Given the description of an element on the screen output the (x, y) to click on. 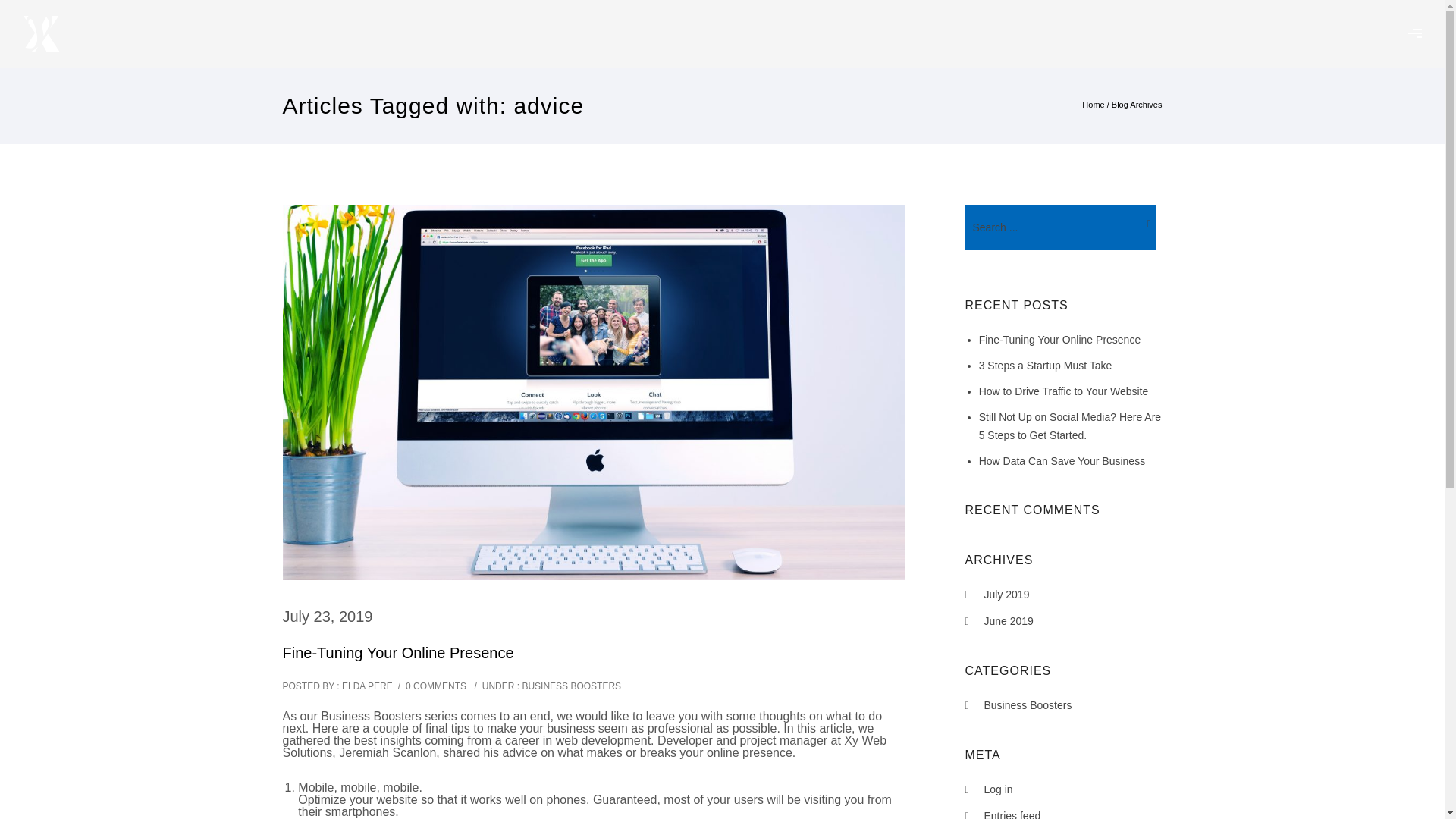
Fine-Tuning Your Online Presence (1059, 339)
Entries feed (1012, 814)
Home (1092, 103)
How to Drive Traffic to Your Website (1063, 390)
3 Steps a Startup Must Take (1045, 365)
Log in (998, 788)
June 2019 (1008, 621)
Business Boosters (1027, 705)
0 COMMENTS (435, 685)
July 2019 (1006, 594)
Fine-Tuning Your Online Presence (397, 653)
BUSINESS BOOSTERS (570, 685)
July 23, 2019 (327, 616)
How Data Can Save Your Business (1061, 460)
